Given the description of an element on the screen output the (x, y) to click on. 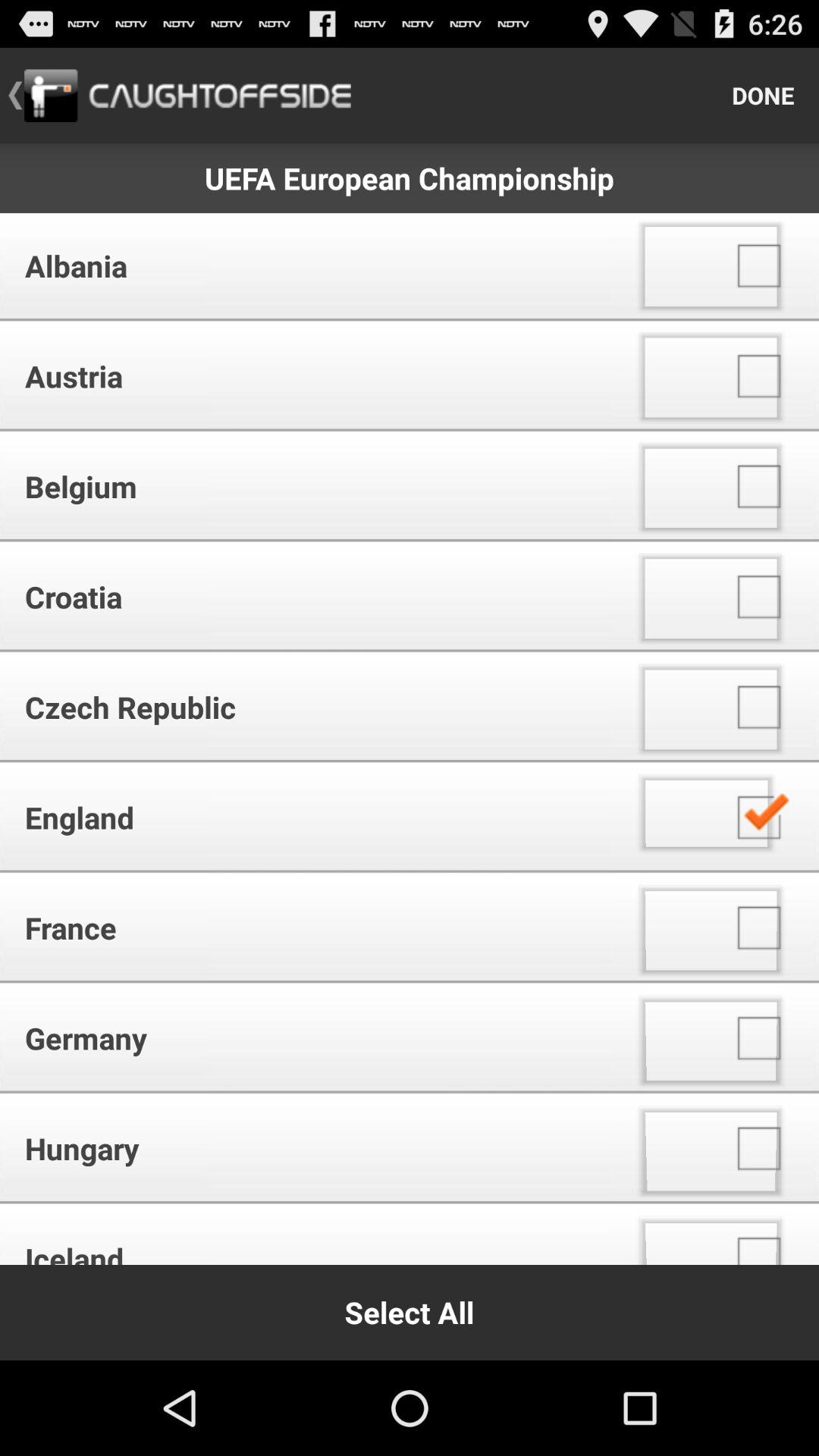
click the item above select all (311, 1236)
